Given the description of an element on the screen output the (x, y) to click on. 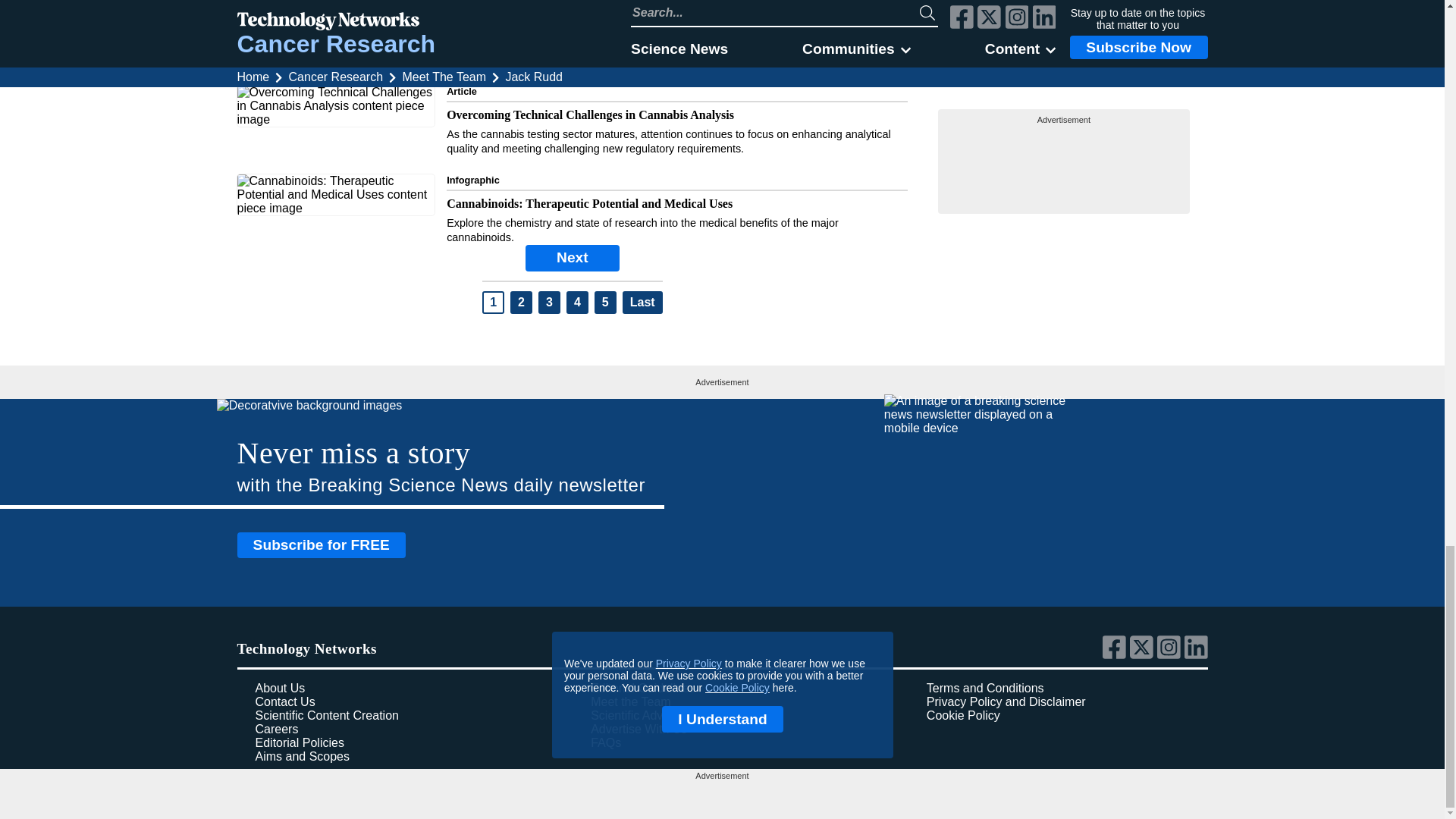
Link to Technology Networks' twitter page (1143, 655)
Click to view "Trends in the Cannabis Testing Industry" (571, 33)
Link to Technology Networks' facebook page (1115, 655)
